Given the description of an element on the screen output the (x, y) to click on. 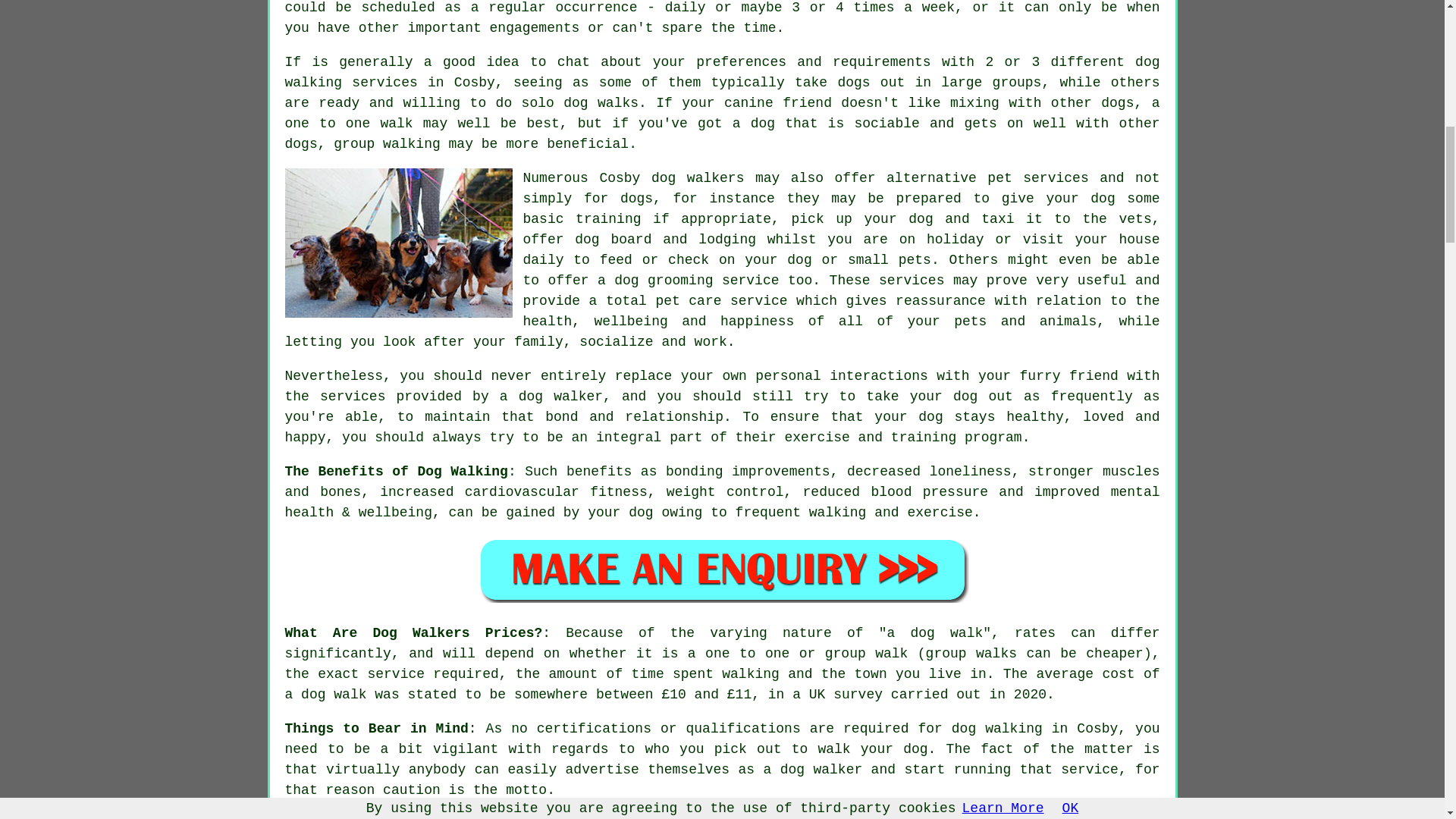
dog walkers (697, 177)
Dog Walking Near Cosby Leicestershire (1002, 816)
Dog Walking Quotes in Cosby Leicestershire (722, 569)
